Given the description of an element on the screen output the (x, y) to click on. 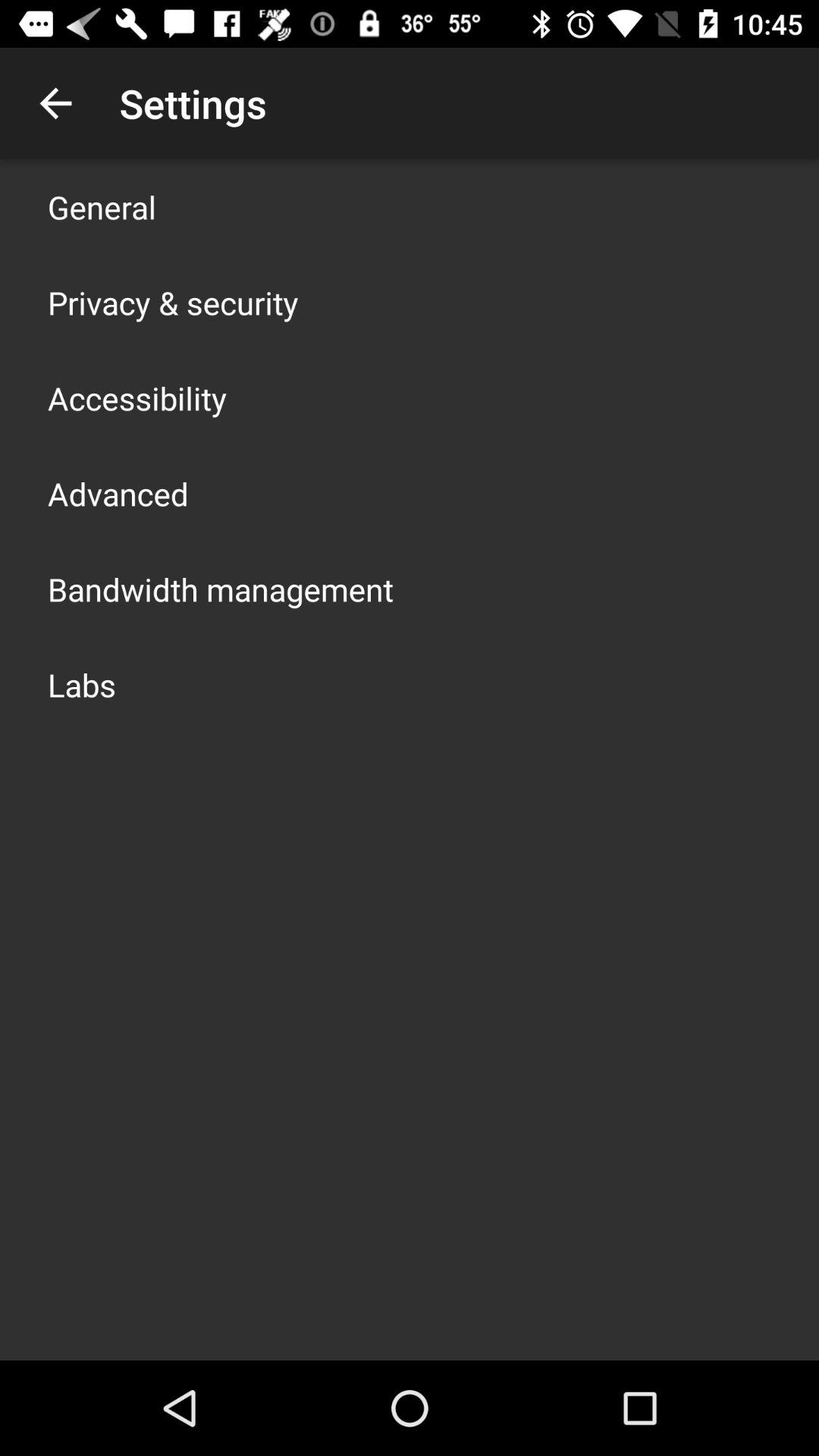
flip until advanced (117, 493)
